Given the description of an element on the screen output the (x, y) to click on. 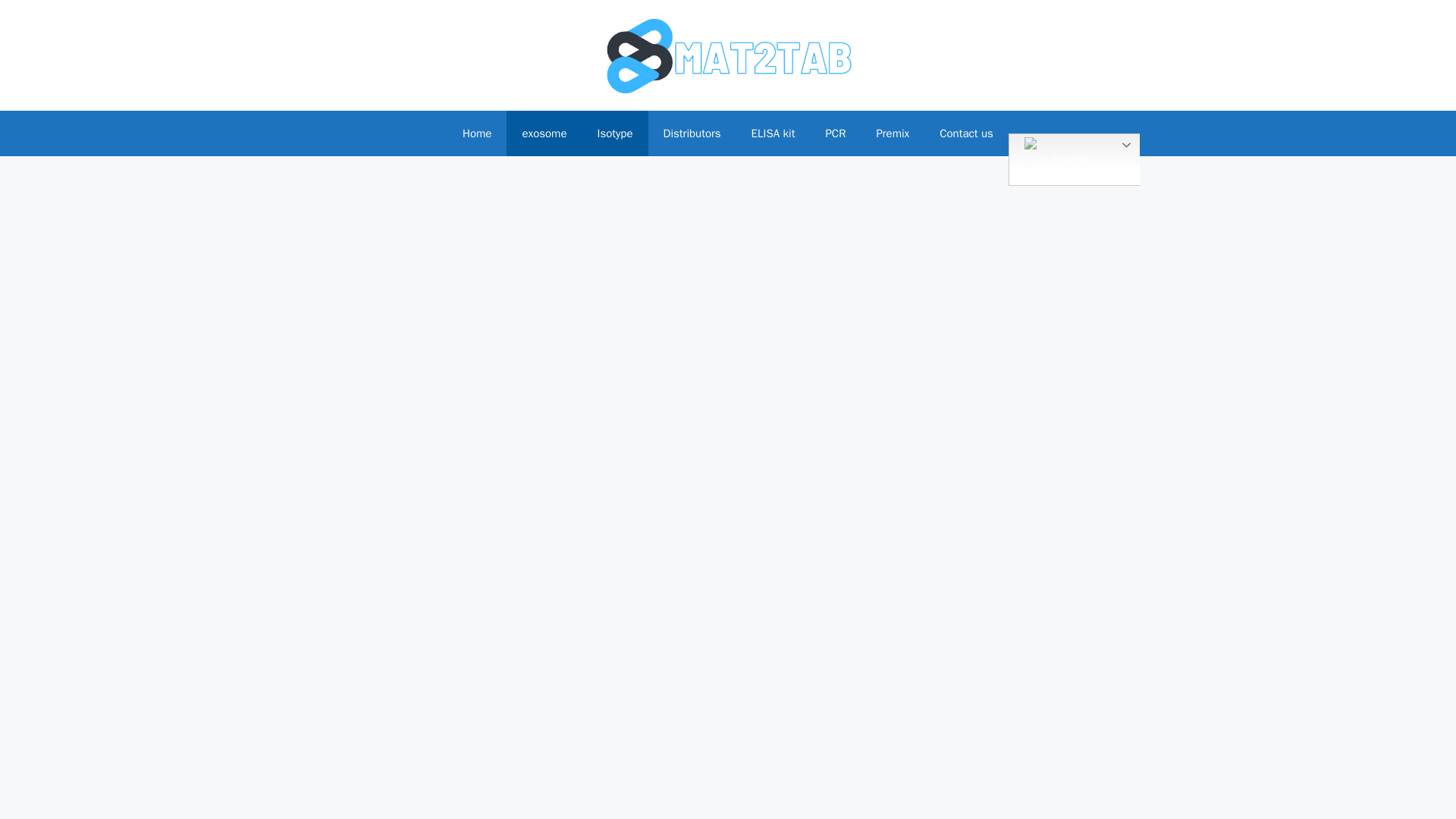
exosome (543, 133)
Isotype (613, 133)
Contact us (966, 133)
Home (476, 133)
PCR (834, 133)
Premix (892, 133)
Distributors (691, 133)
ELISA kit (773, 133)
